Given the description of an element on the screen output the (x, y) to click on. 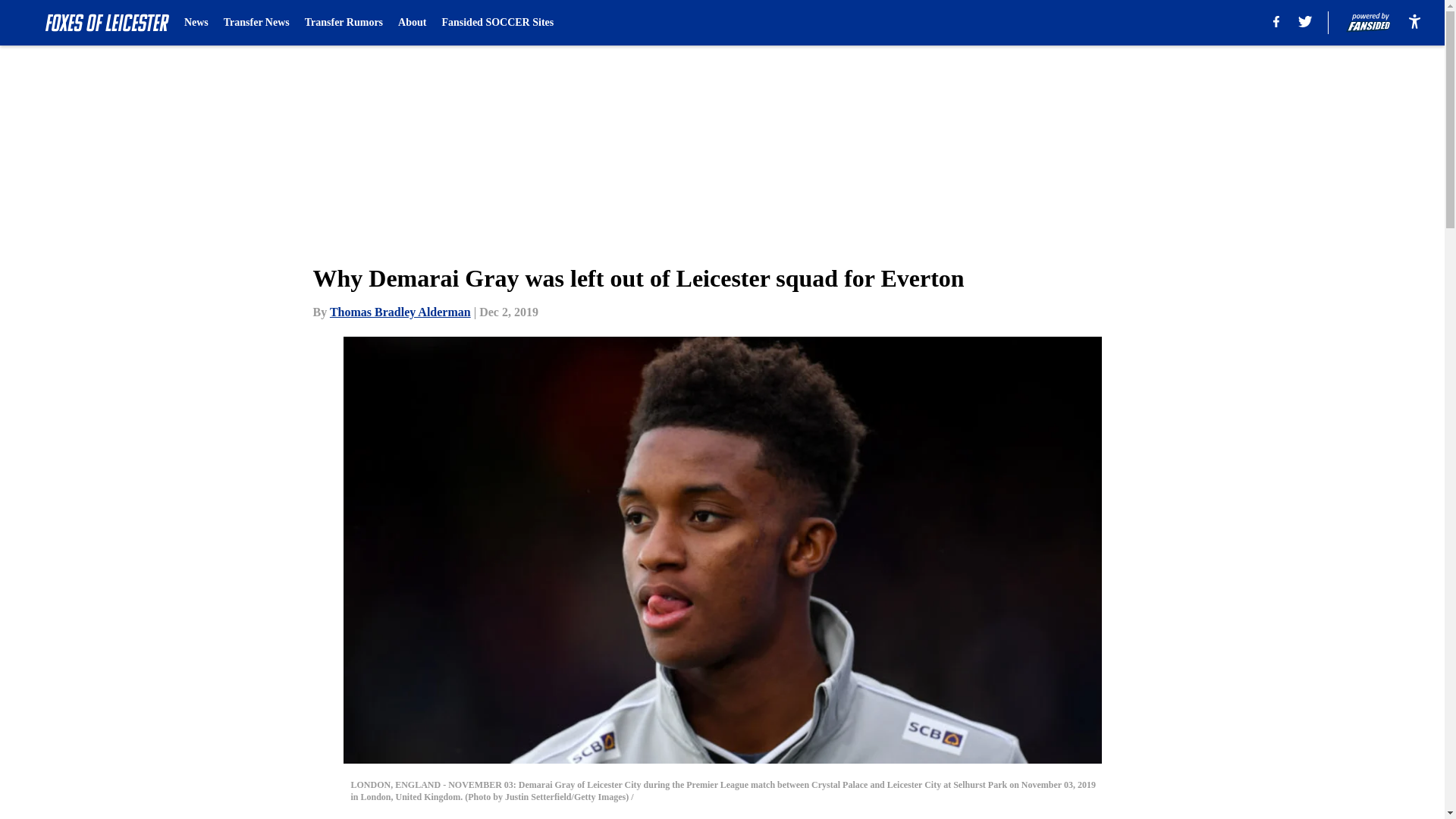
News (196, 22)
Transfer Rumors (343, 22)
Thomas Bradley Alderman (400, 311)
About (411, 22)
Transfer News (256, 22)
Fansided SOCCER Sites (497, 22)
